Given the description of an element on the screen output the (x, y) to click on. 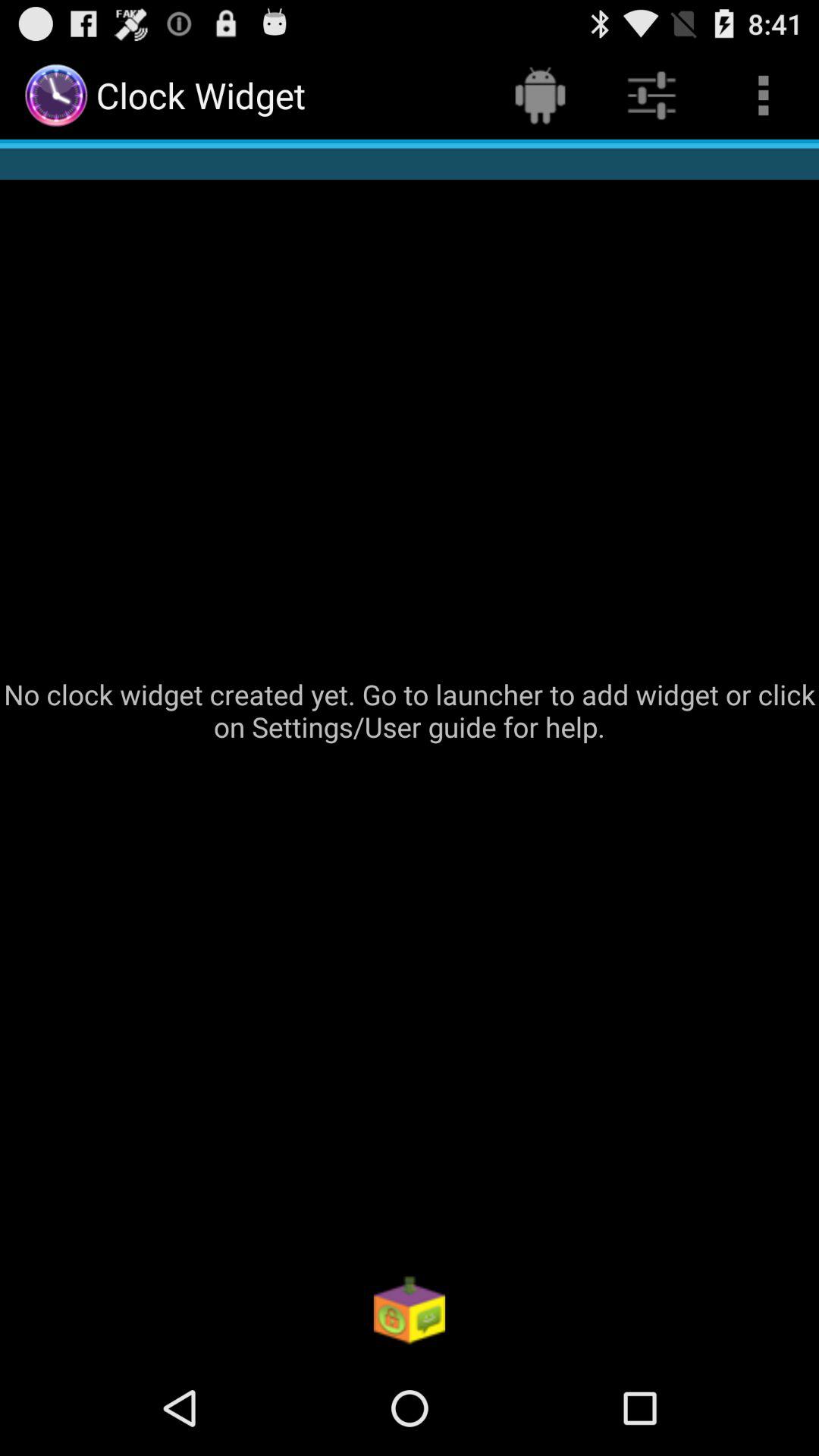
select app to the right of clock widget app (540, 95)
